Given the description of an element on the screen output the (x, y) to click on. 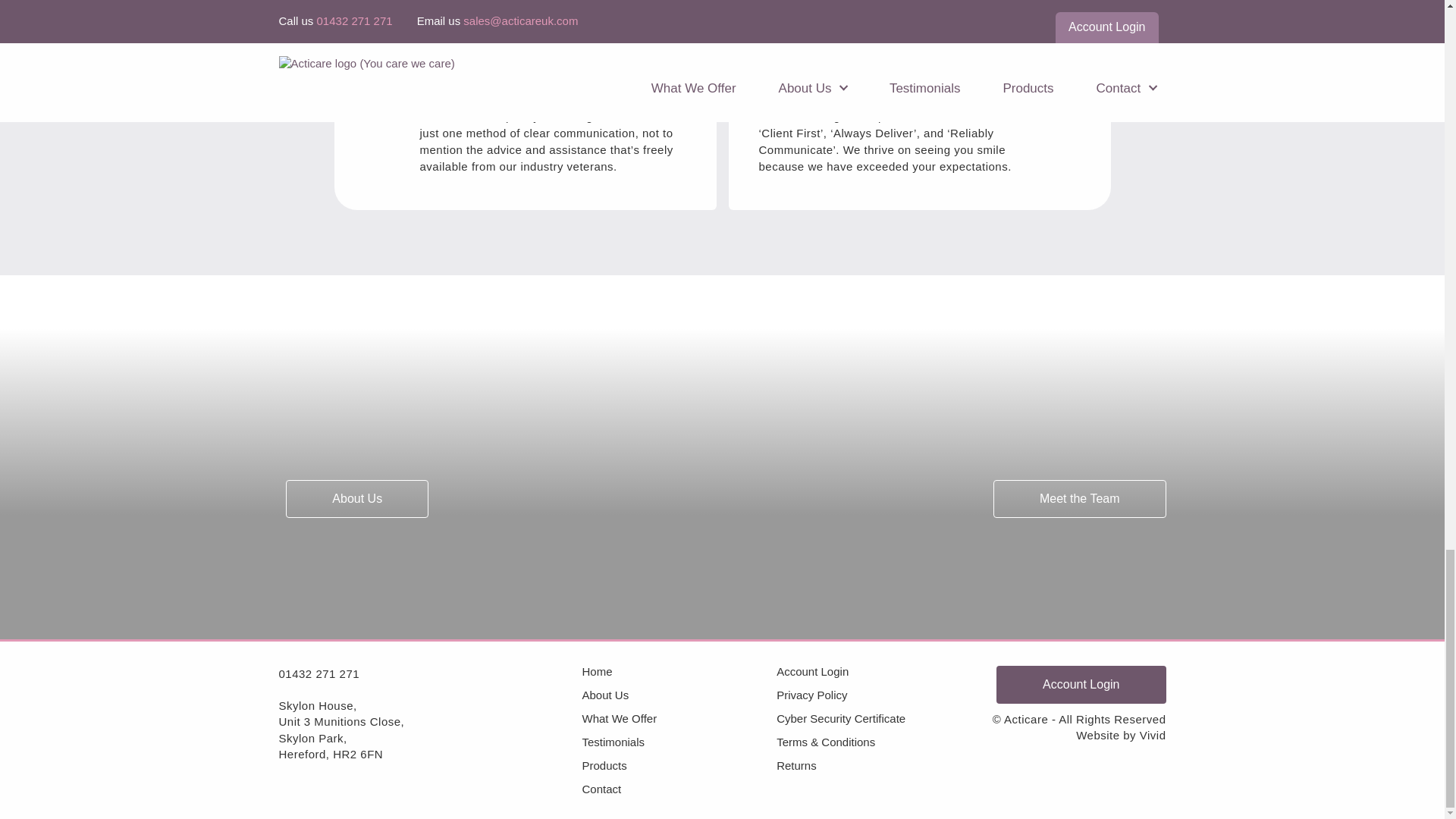
Home (679, 671)
Call us (319, 673)
About Us (679, 695)
01432 271 271 (319, 673)
Testimonials (679, 741)
What We Offer (679, 717)
Cyber Security Certificate (873, 717)
Find out more about Vivid (1153, 735)
Returns (873, 765)
Account Login (873, 671)
Products (679, 765)
Privacy Policy (873, 695)
Contact (679, 788)
